Given the description of an element on the screen output the (x, y) to click on. 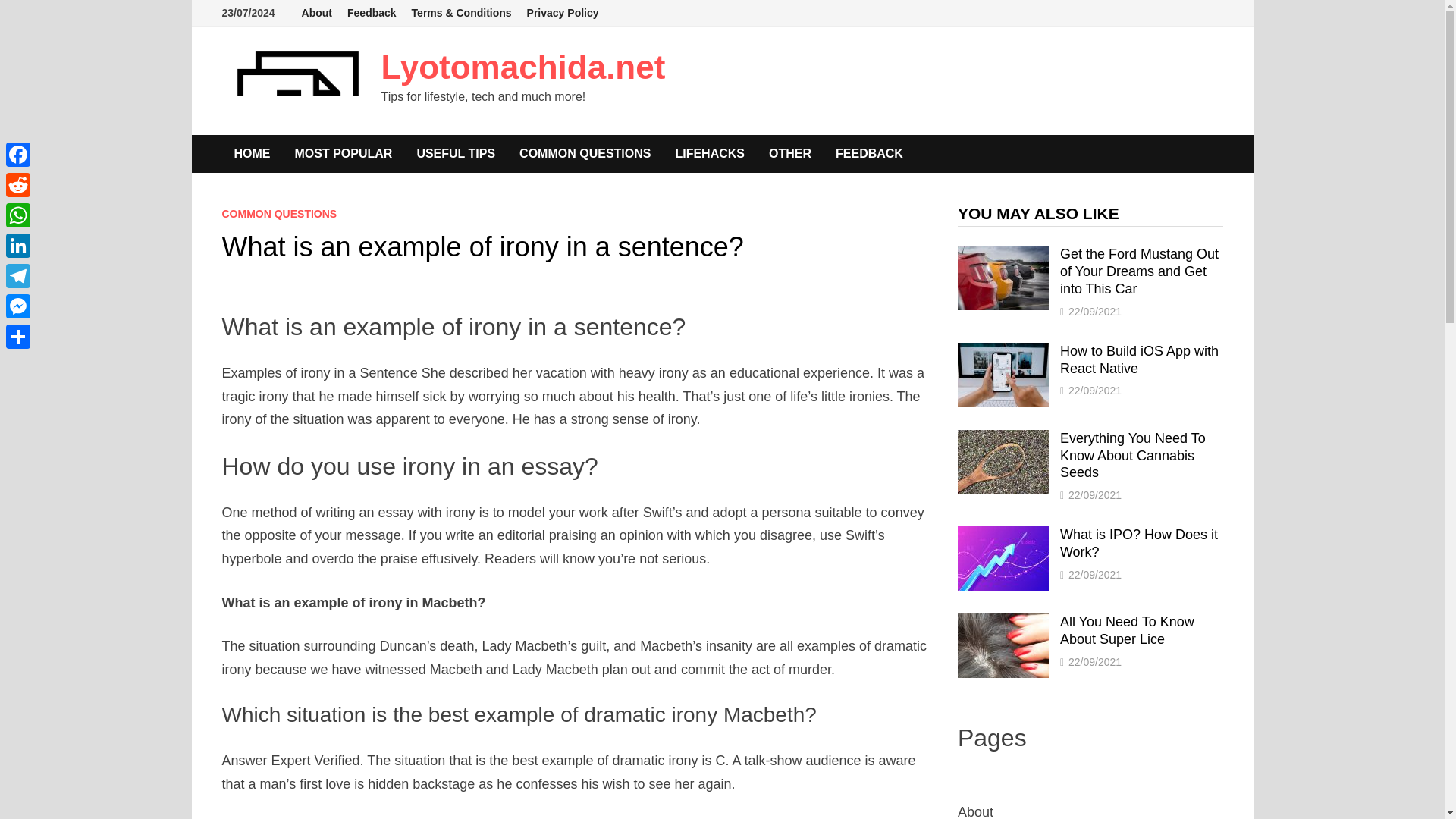
Reddit (17, 184)
MOST POPULAR (343, 153)
Messenger (17, 306)
LinkedIn (17, 245)
Everything You Need To Know About Cannabis Seeds (1132, 455)
Telegram (17, 276)
OTHER (790, 153)
What is IPO? How Does it Work? (1003, 535)
About (316, 13)
How to Build iOS App with React Native (1138, 359)
HOME (251, 153)
Everything You Need To Know About Cannabis Seeds (1003, 439)
WhatsApp (17, 214)
Feedback (371, 13)
COMMON QUESTIONS (584, 153)
